Given the description of an element on the screen output the (x, y) to click on. 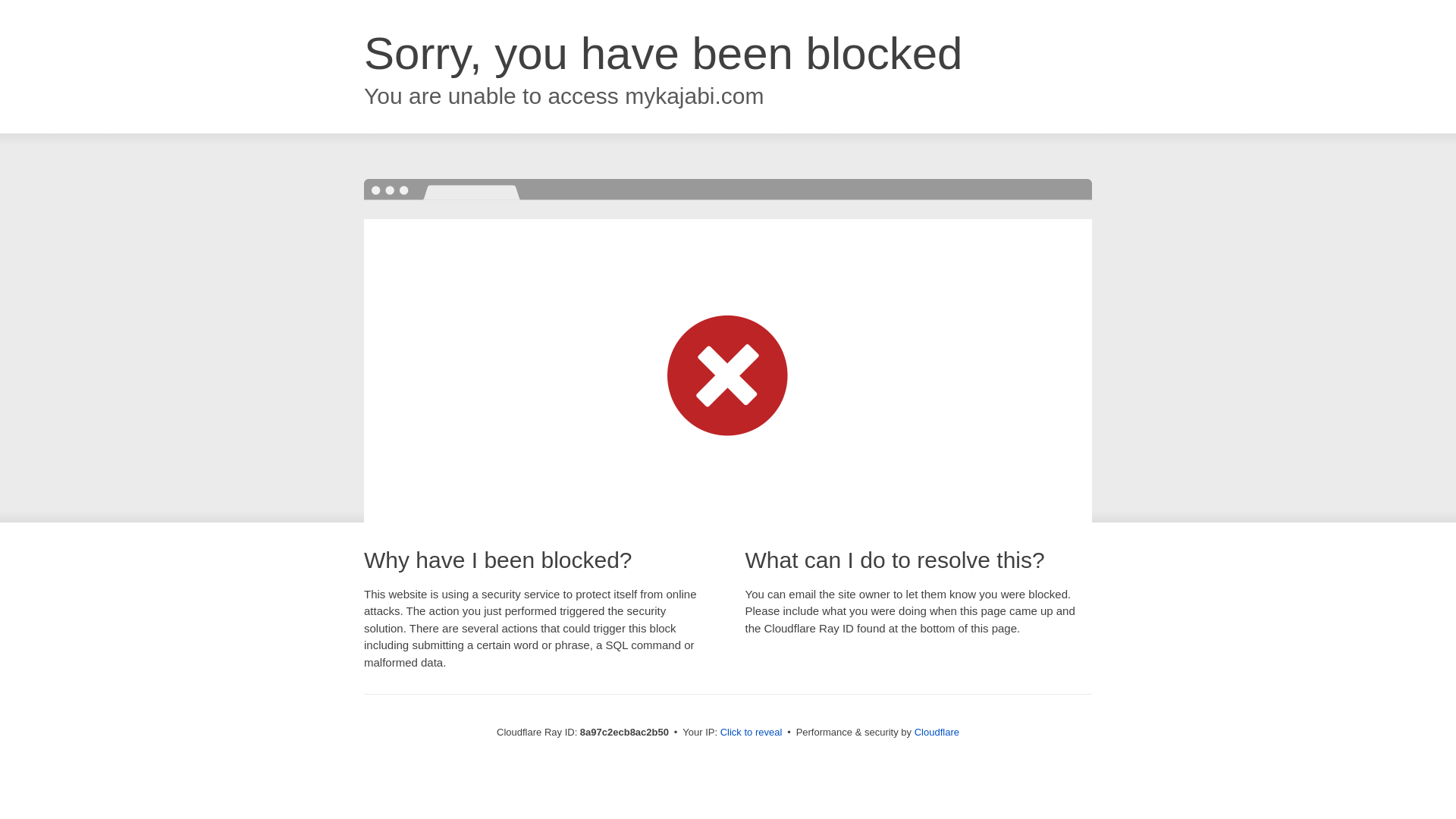
Click to reveal (751, 732)
Cloudflare (936, 731)
